Given the description of an element on the screen output the (x, y) to click on. 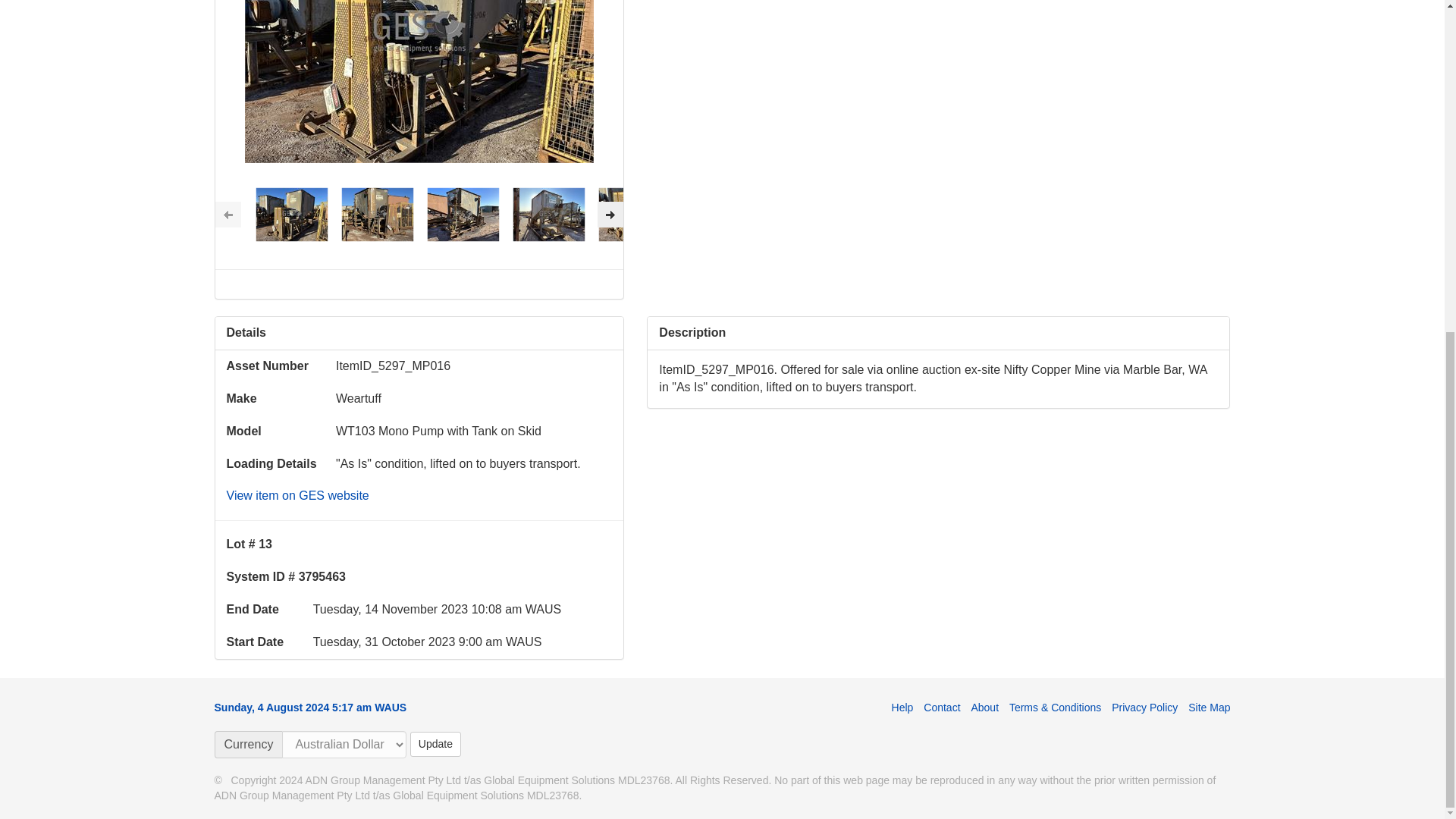
Update (435, 744)
